Given the description of an element on the screen output the (x, y) to click on. 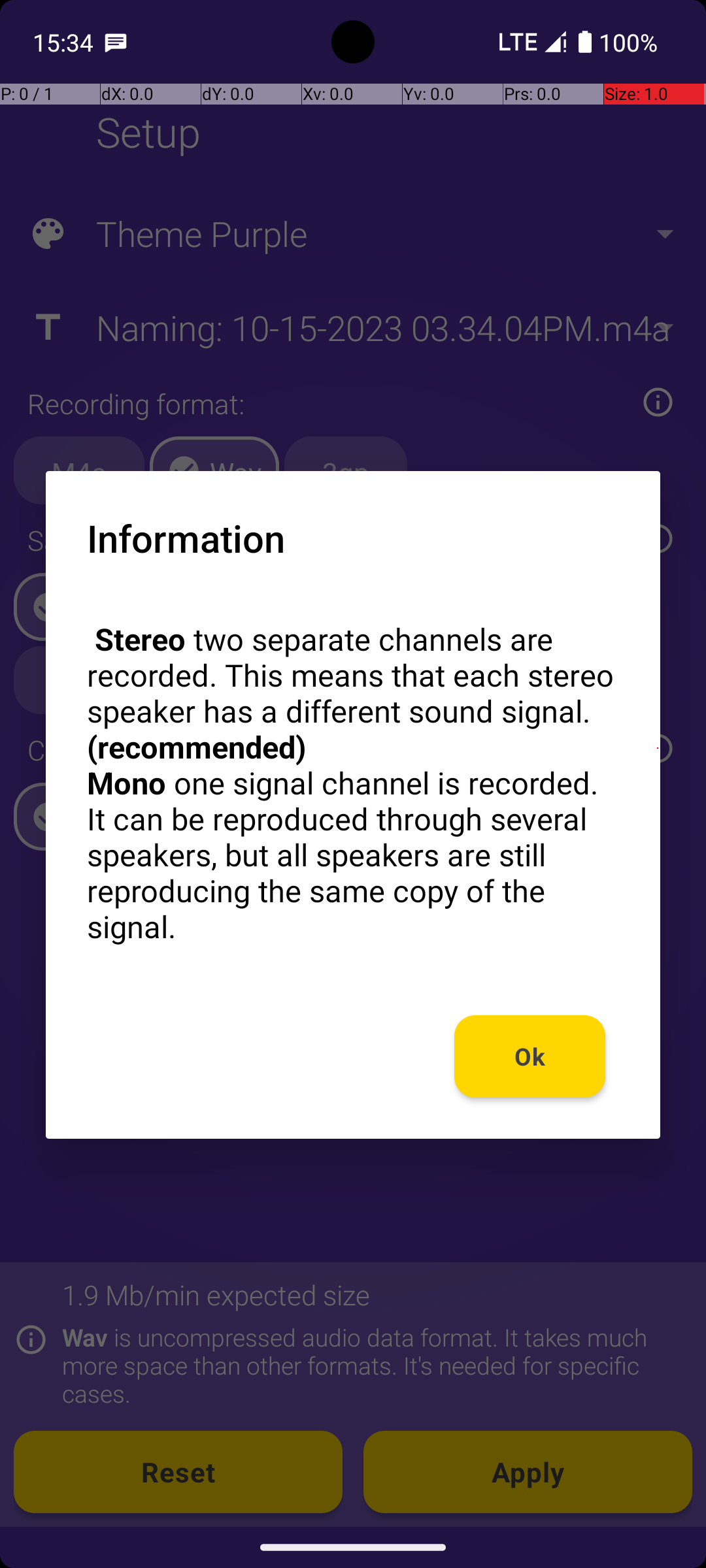
Information Element type: android.widget.TextView (185, 537)
 Stereo two separate channels are recorded. This means that each stereo speaker has a different sound signal. (recommended) 
Mono one signal channel is recorded. It can be reproduced through several speakers, but all speakers are still reproducing the same copy of the signal.  Element type: android.widget.TextView (352, 782)
Ok Element type: android.widget.Button (529, 1056)
